Given the description of an element on the screen output the (x, y) to click on. 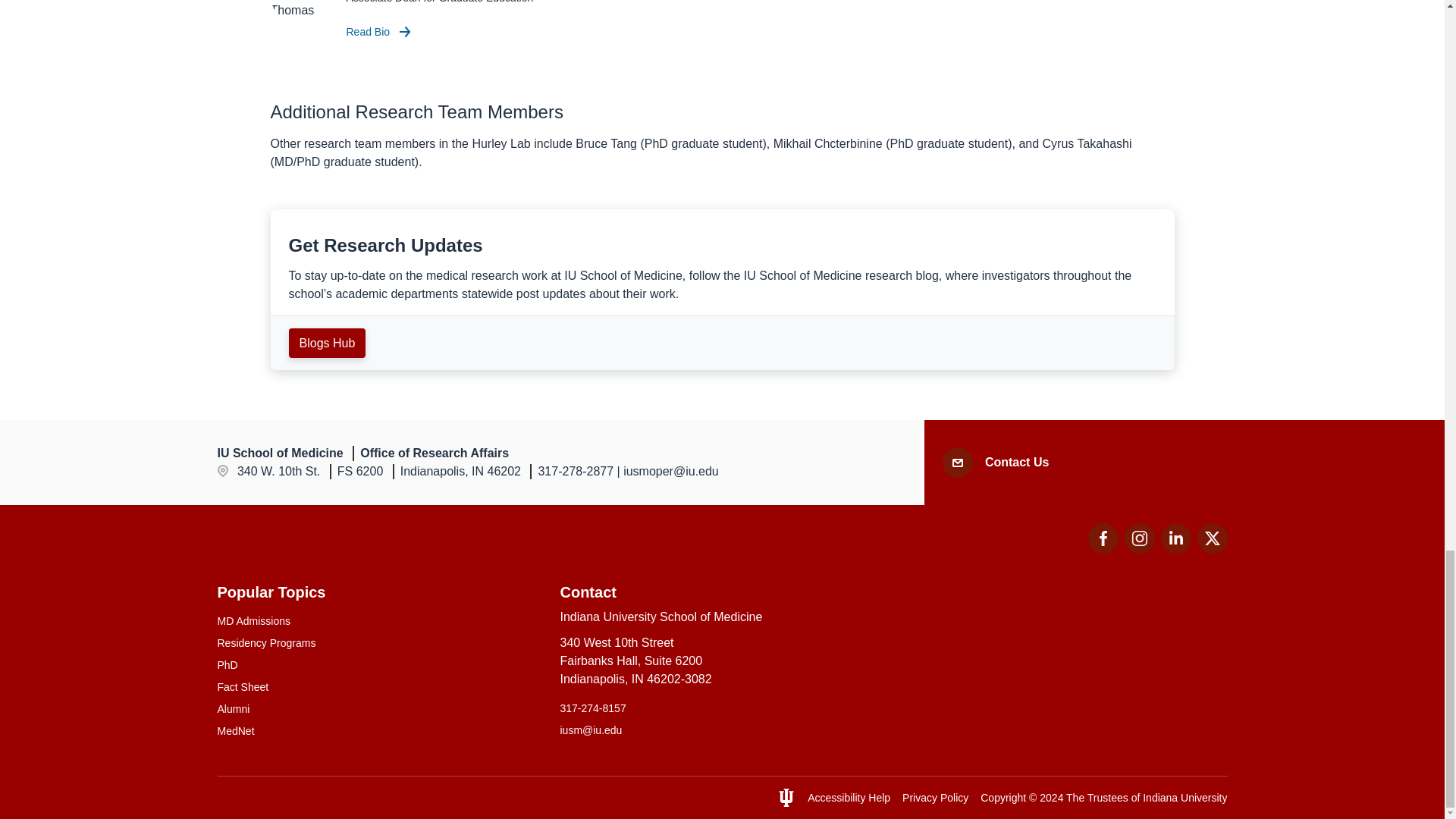
Facebook (1102, 538)
MedNet (1211, 549)
Fact Sheet (378, 731)
Indiana University (378, 687)
Instagram (1184, 797)
MD Admissions (1139, 538)
Contact Us (378, 621)
Read Bio (1016, 462)
